Given the description of an element on the screen output the (x, y) to click on. 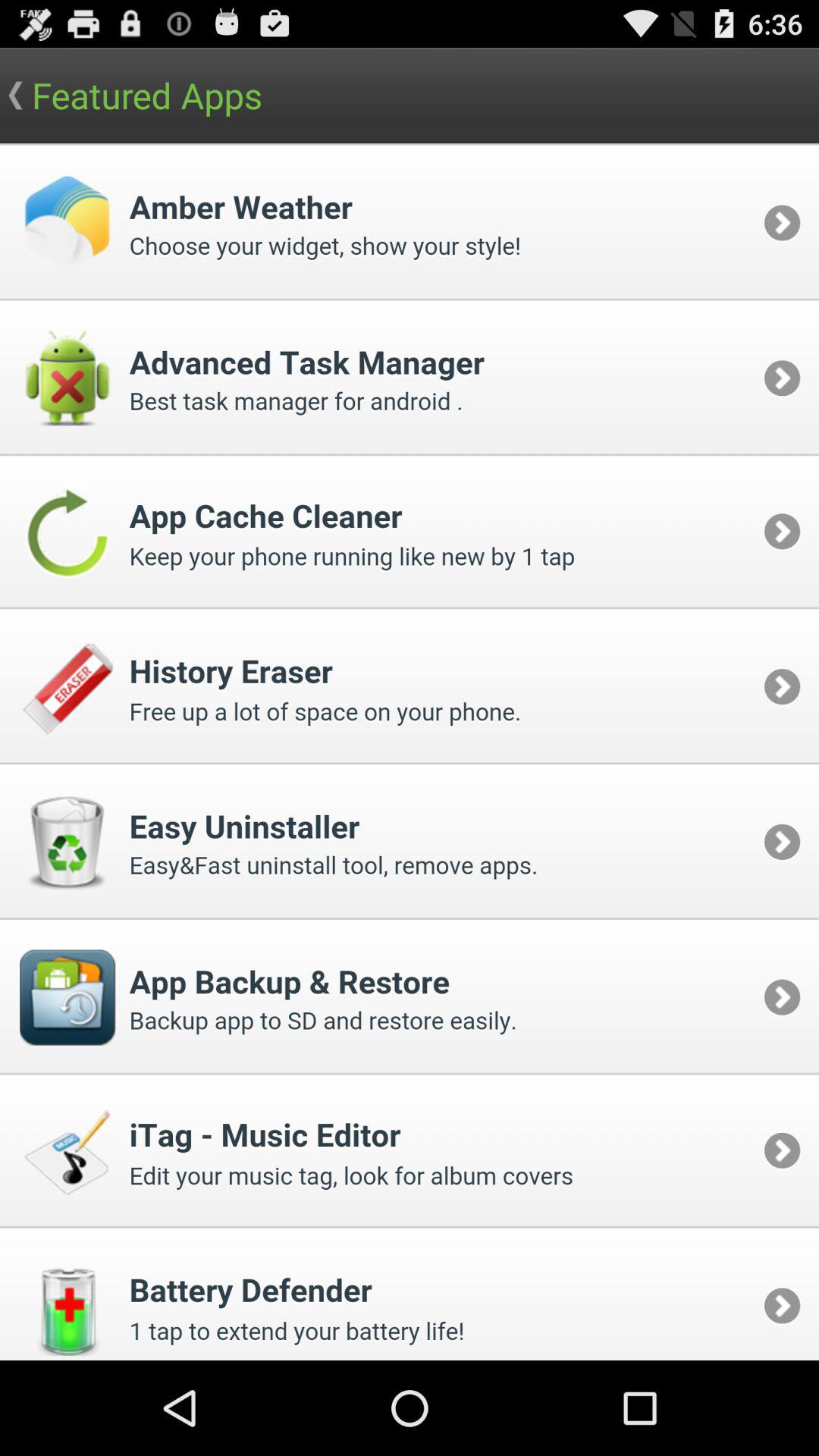
settings (409, 751)
